Given the description of an element on the screen output the (x, y) to click on. 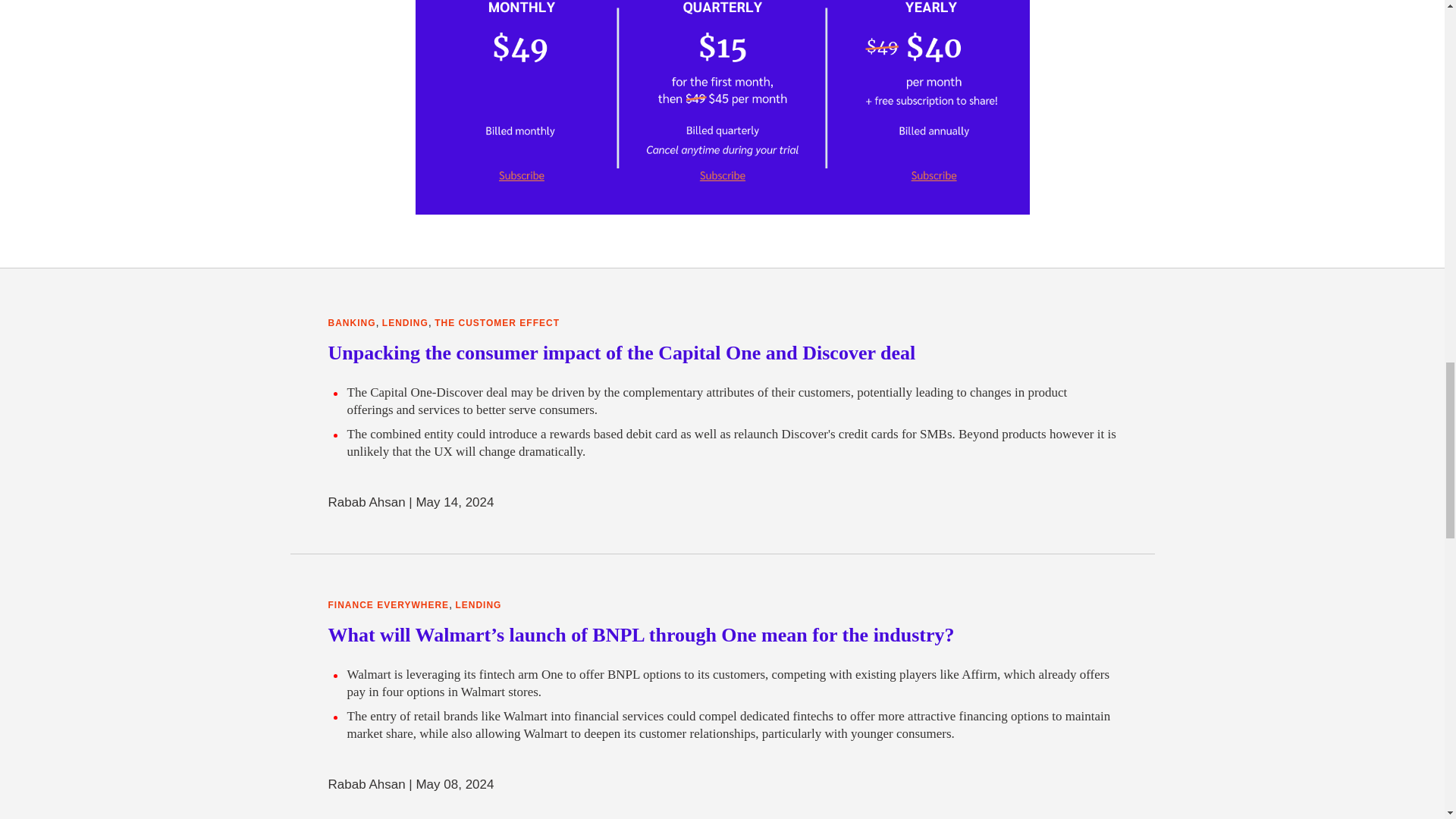
Finance Everywhere (387, 605)
Lending (404, 323)
Lending (477, 605)
The Customer Effect (496, 323)
Banking (351, 323)
